Given the description of an element on the screen output the (x, y) to click on. 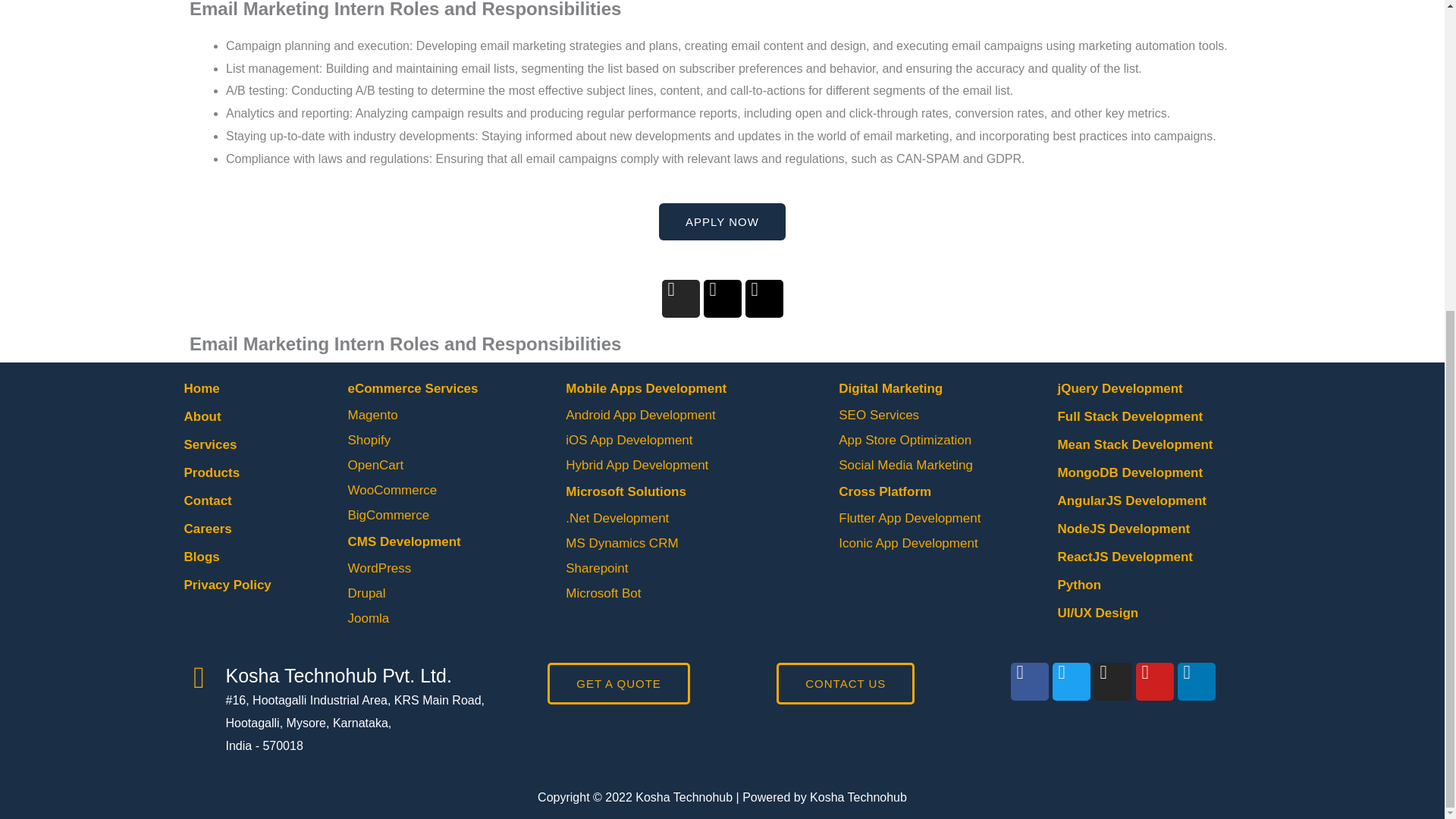
About (202, 416)
Drupal (366, 593)
WooCommerce (391, 490)
Careers (207, 528)
Services (209, 444)
Shopify (368, 440)
APPLY NOW (722, 221)
Products (211, 472)
CMS Development (403, 541)
Magento (372, 414)
